Given the description of an element on the screen output the (x, y) to click on. 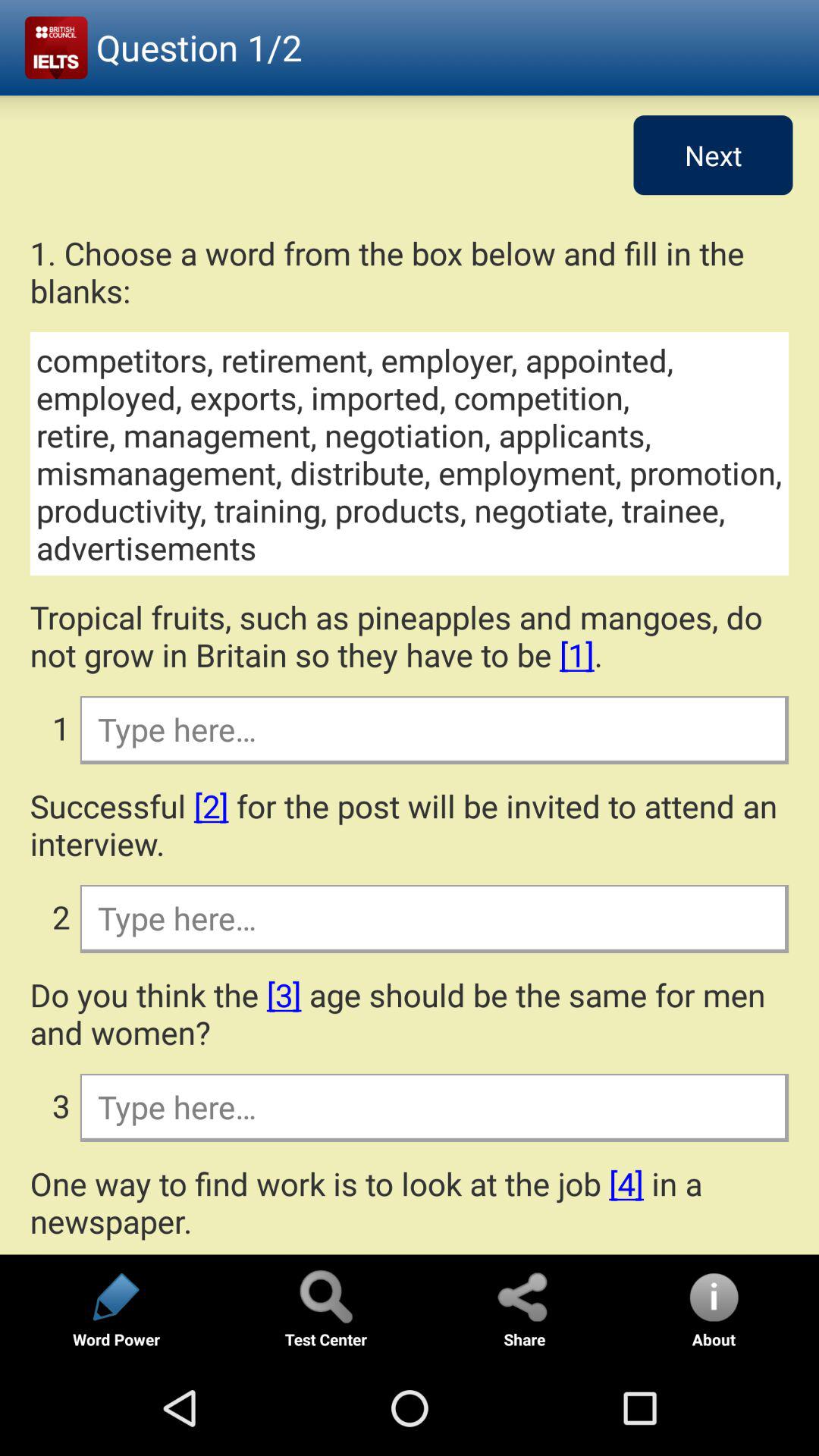
turn off tropical fruits such (409, 635)
